Given the description of an element on the screen output the (x, y) to click on. 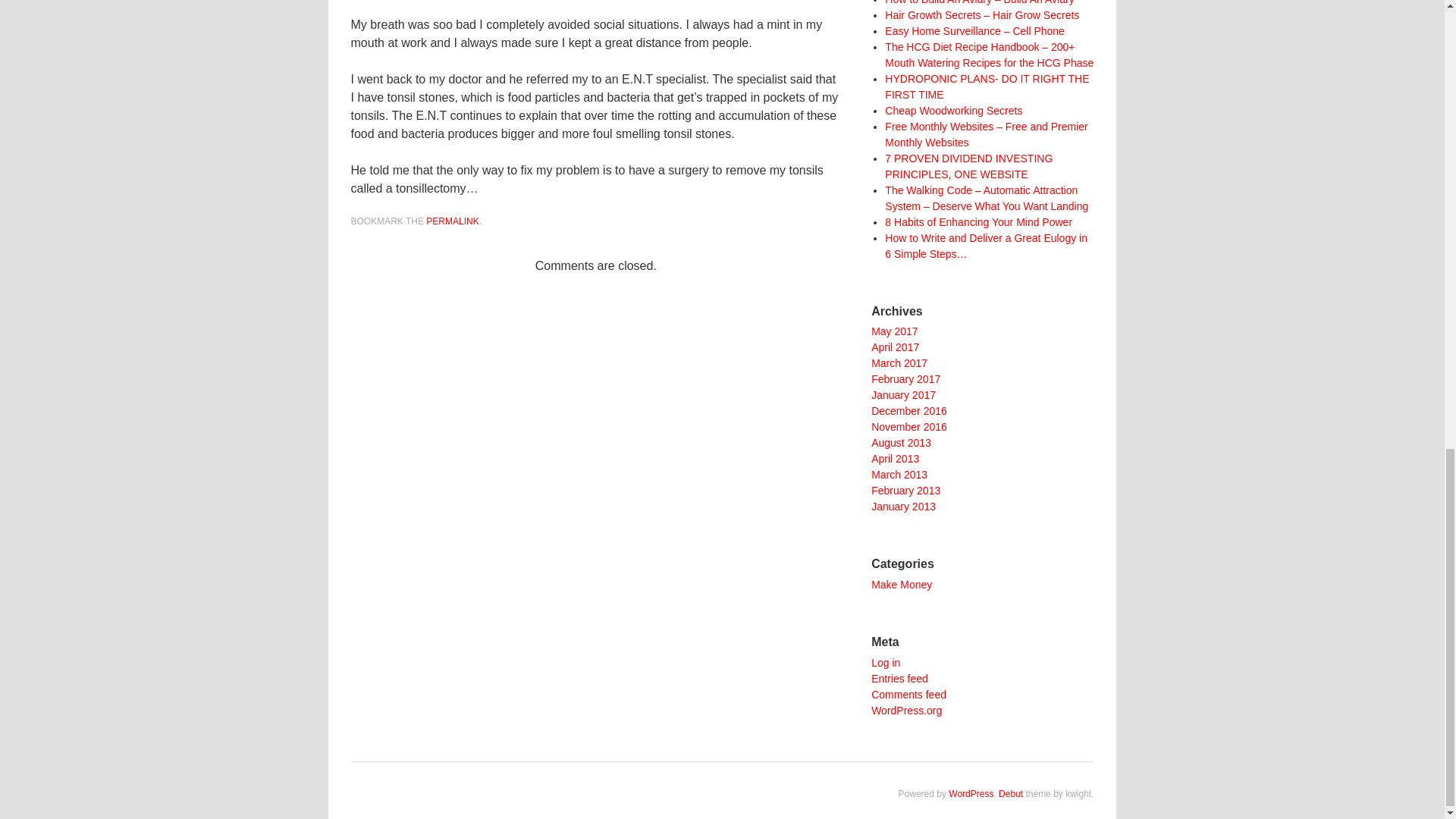
PERMALINK (452, 221)
Permalink to How to Cure Tonsil Stones (452, 221)
